Given the description of an element on the screen output the (x, y) to click on. 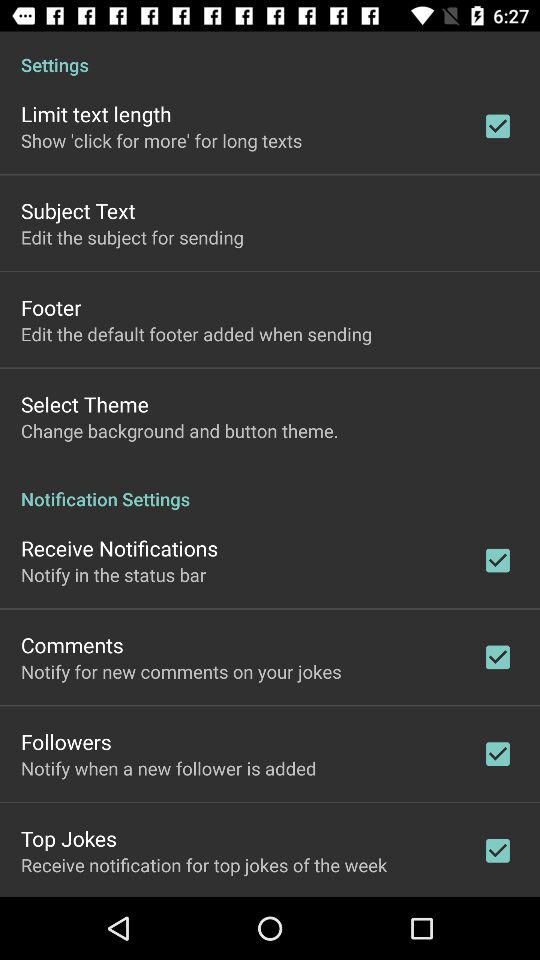
turn on the icon below select theme (179, 430)
